Given the description of an element on the screen output the (x, y) to click on. 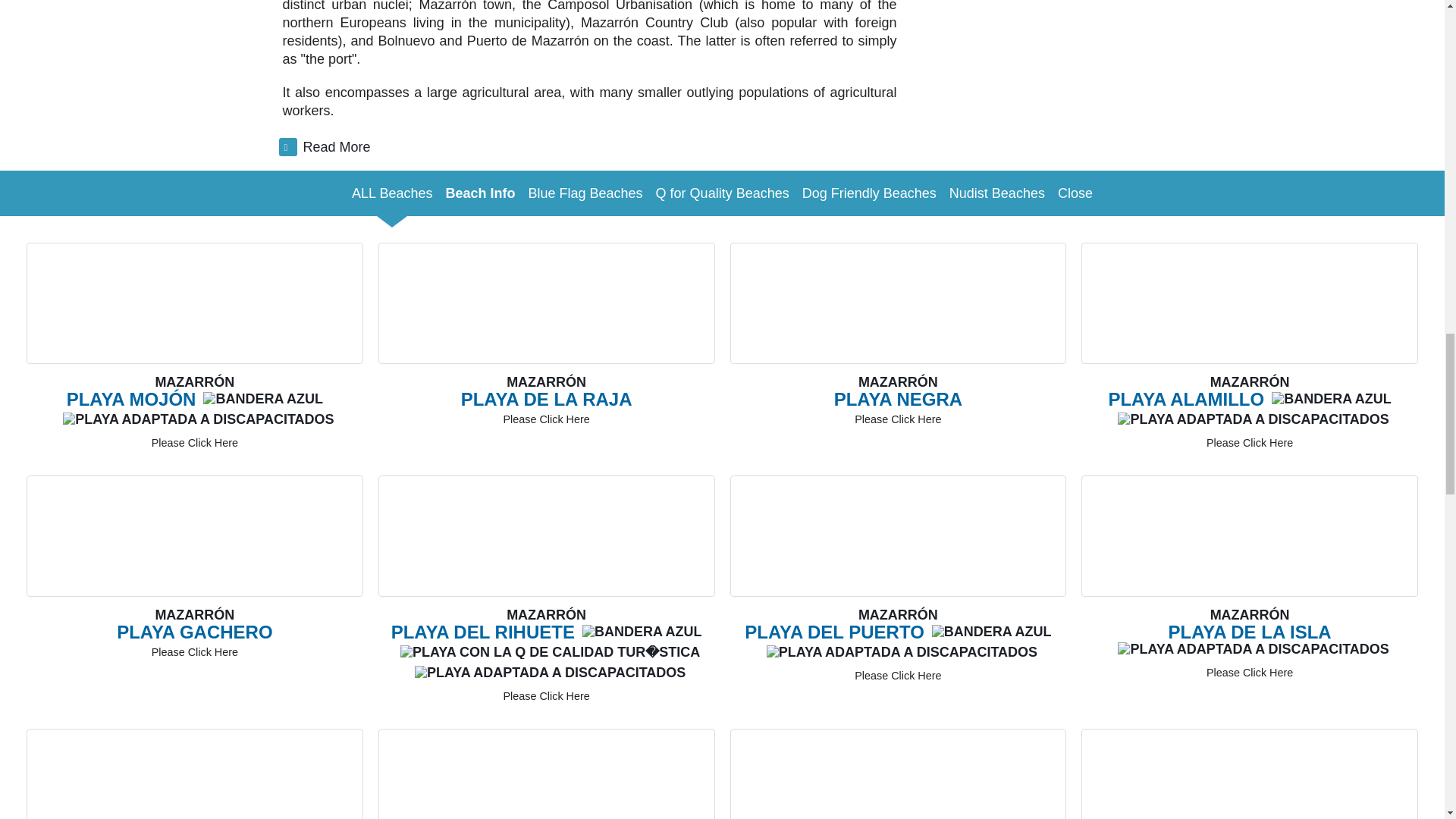
Playa adaptada a discapacitados (1253, 418)
Playa adaptada a discapacitados (901, 652)
Bandera Azul (1331, 398)
Bandera Azul (641, 631)
Playa adaptada a discapacitados (1253, 649)
Playa adaptada a discapacitados (549, 672)
Bandera Azul (991, 631)
Playa adaptada a discapacitados (197, 418)
Bandera Azul (263, 398)
